Given the description of an element on the screen output the (x, y) to click on. 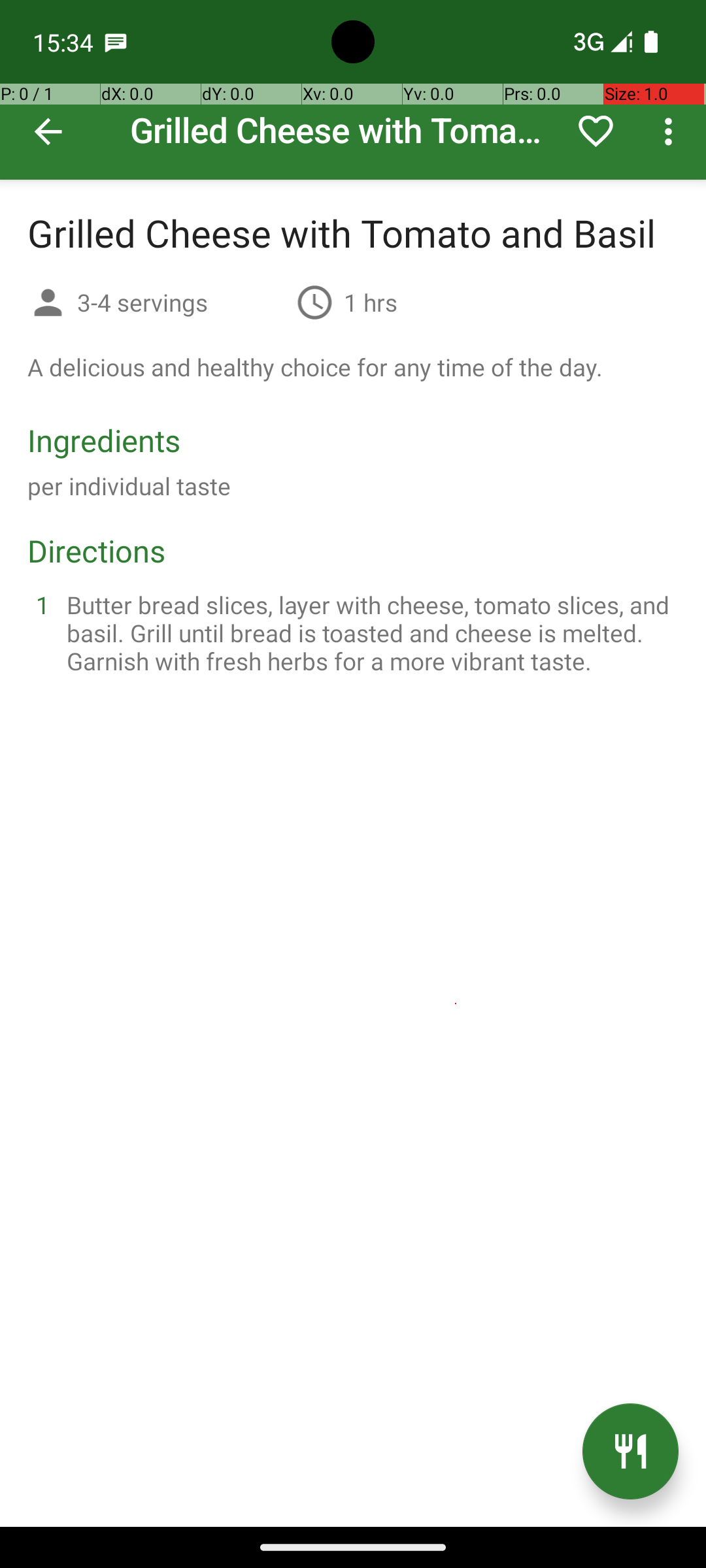
Grilled Cheese with Tomato and Basil Element type: android.widget.FrameLayout (353, 89)
3-4 servings Element type: android.widget.TextView (181, 301)
1 hrs Element type: android.widget.TextView (370, 301)
per individual taste Element type: android.widget.TextView (128, 485)
Butter bread slices, layer with cheese, tomato slices, and basil. Grill until bread is toasted and cheese is melted. Garnish with fresh herbs for a more vibrant taste. Element type: android.widget.TextView (368, 632)
